Given the description of an element on the screen output the (x, y) to click on. 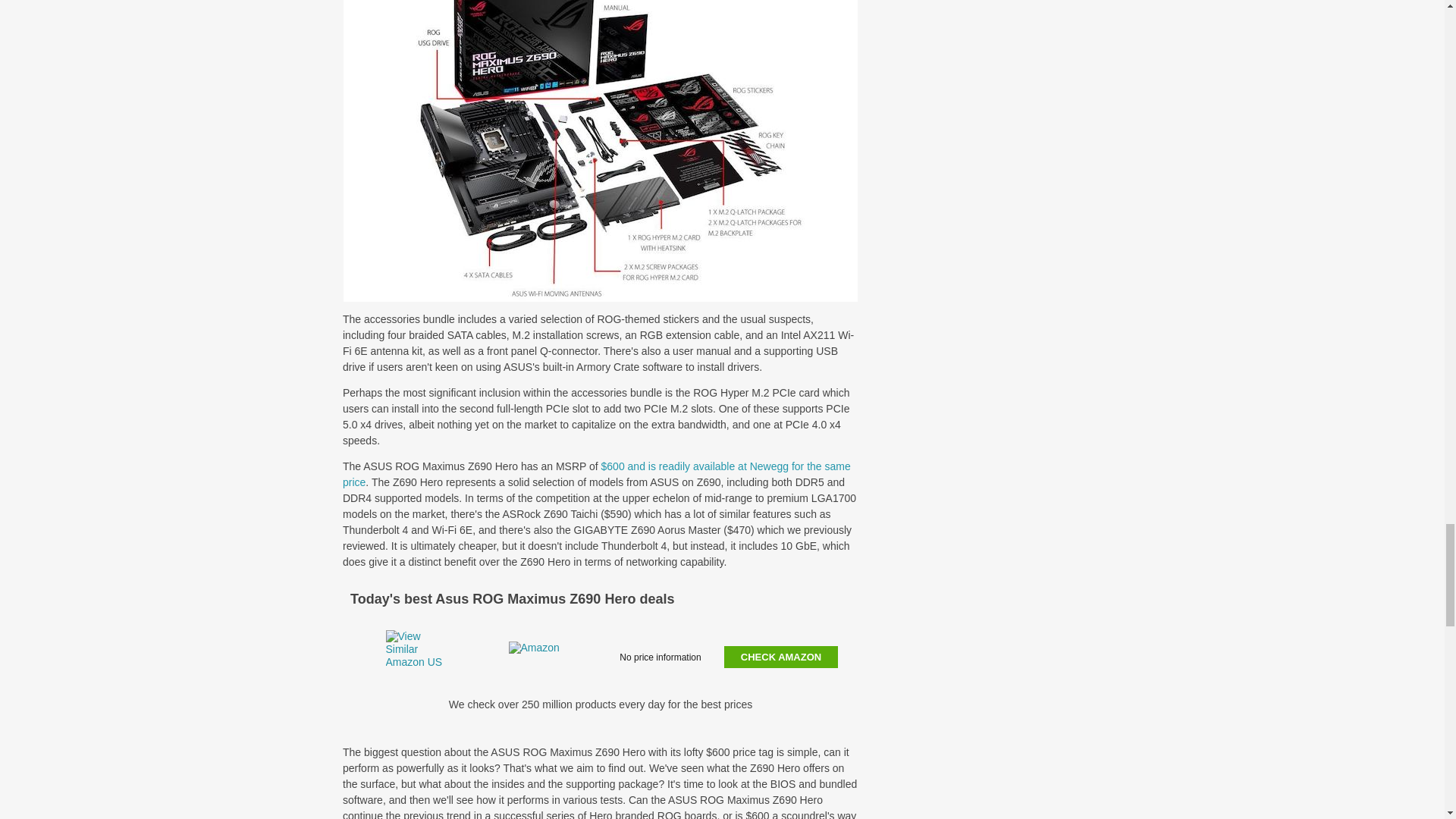
Amazon (538, 656)
View Similar Amazon US (414, 656)
